Given the description of an element on the screen output the (x, y) to click on. 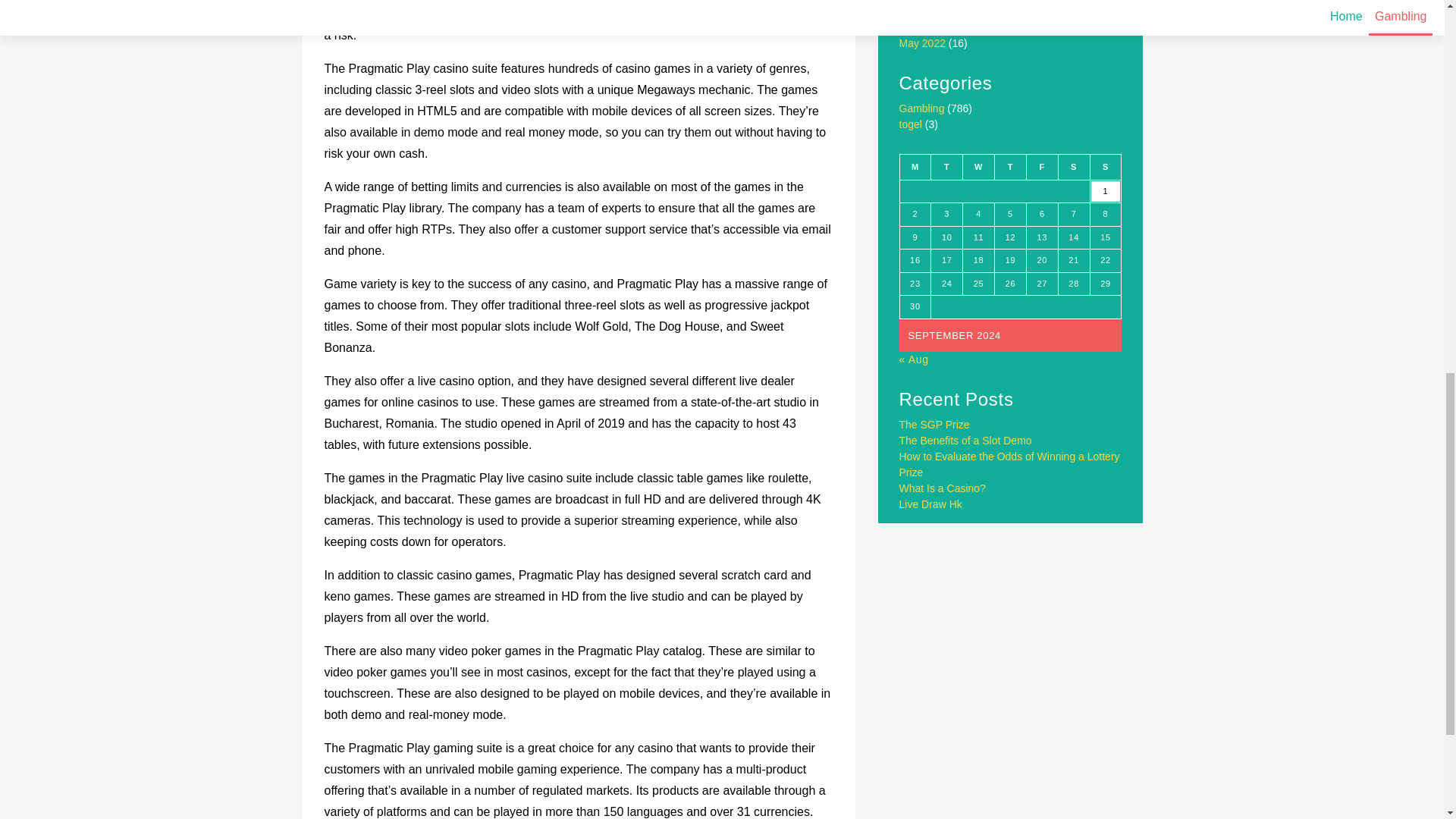
Tuesday (946, 166)
Friday (1042, 166)
Sunday (1105, 166)
June 2022 (924, 27)
Wednesday (978, 166)
Monday (915, 166)
May 2022 (921, 42)
August 2022 (929, 0)
Gambling (921, 108)
Thursday (1010, 166)
